Given the description of an element on the screen output the (x, y) to click on. 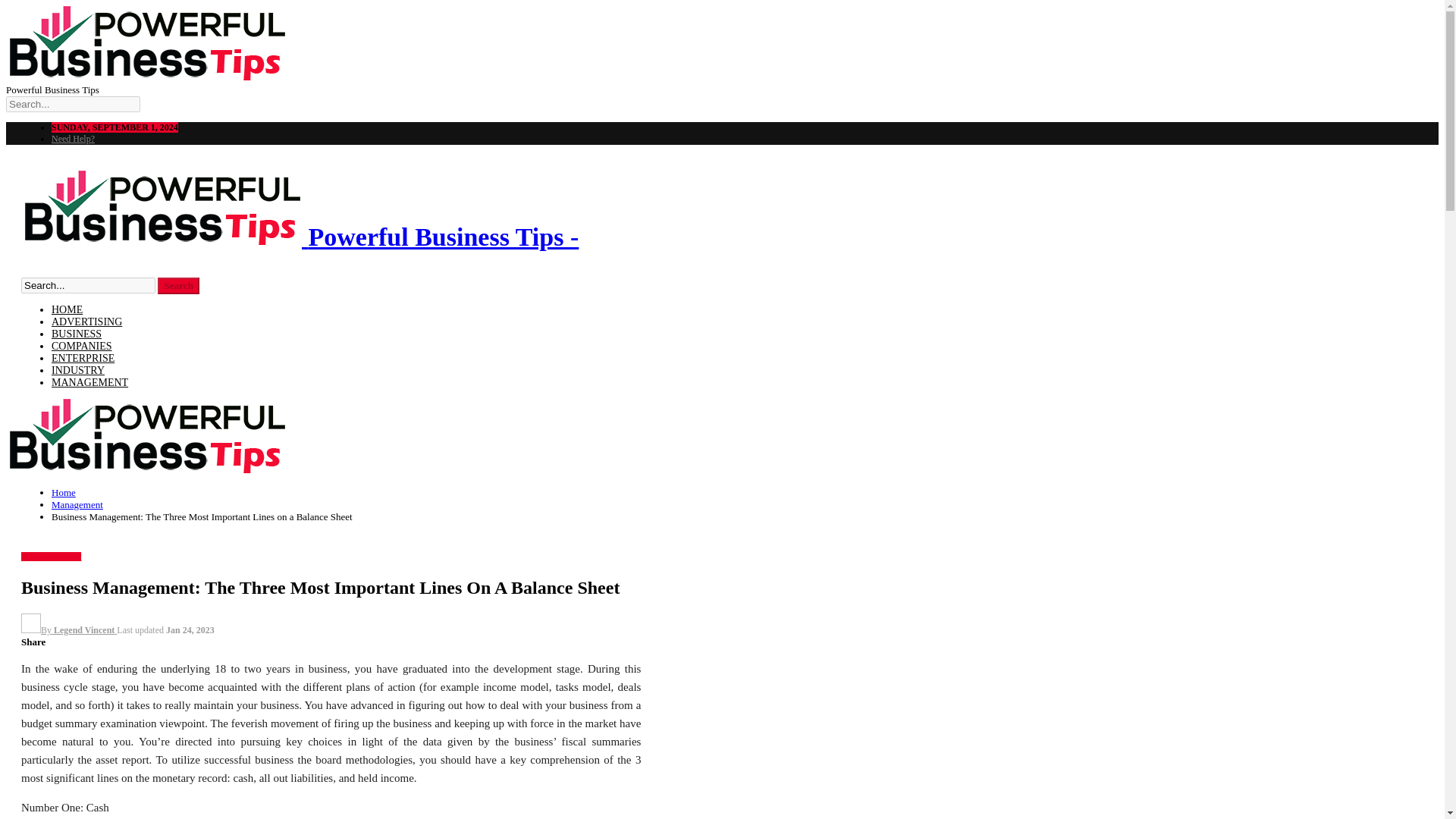
BUSINESS (75, 333)
ADVERTISING (86, 321)
Need Help? (72, 138)
Search (178, 285)
MANAGEMENT (89, 382)
Search (178, 285)
ENTERPRISE (82, 357)
Browse Author Articles (68, 629)
Home (62, 491)
INDUSTRY (77, 369)
